Given the description of an element on the screen output the (x, y) to click on. 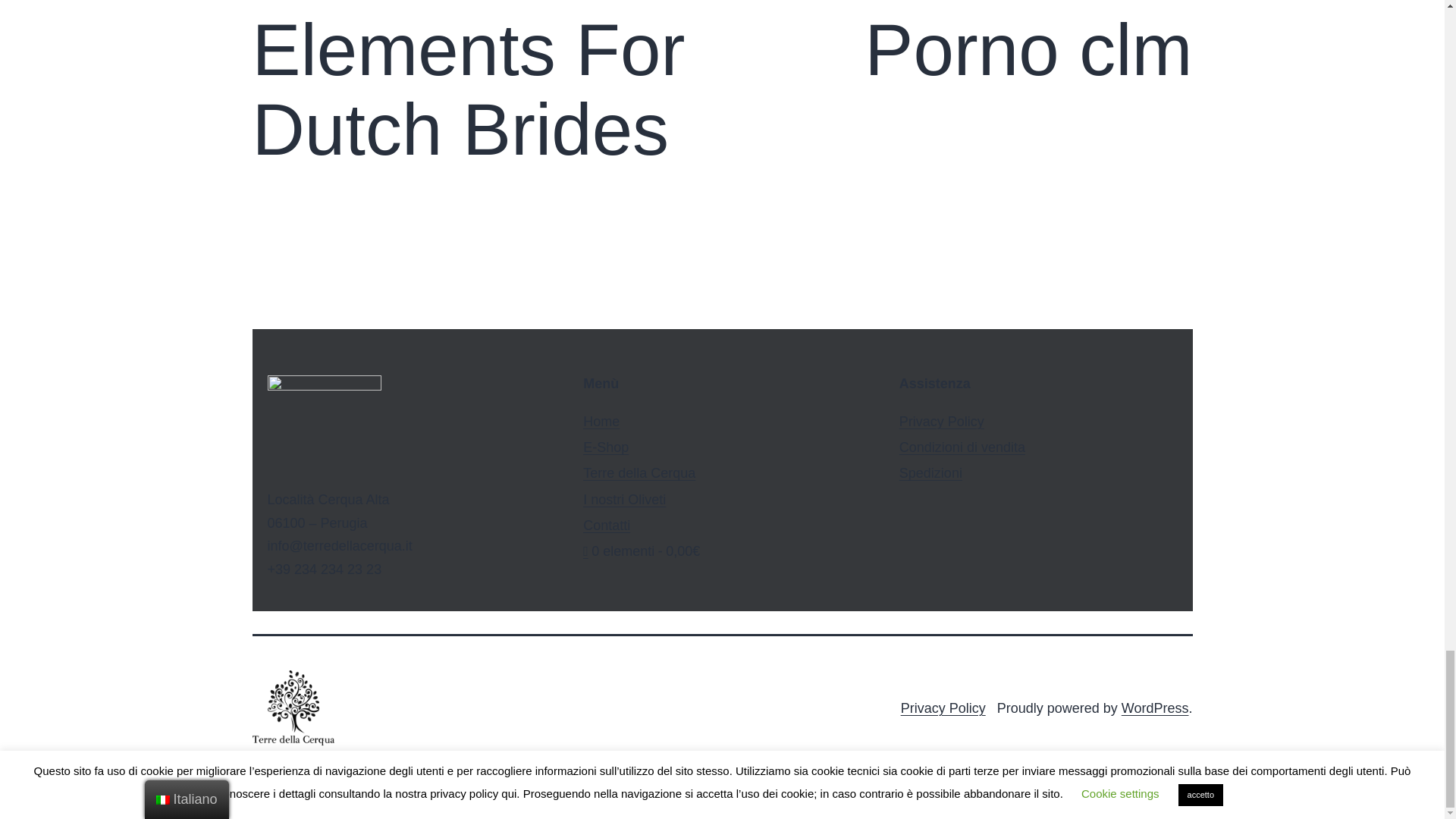
Vai al negozio (641, 550)
Contatti (606, 525)
Home (601, 421)
Condizioni di vendita (962, 447)
Privacy Policy (941, 421)
I nostri Oliveti (624, 499)
Spedizioni (930, 473)
Terre della Cerqua (639, 473)
E-Shop (605, 447)
Privacy Policy (943, 708)
WordPress (1155, 708)
